Given the description of an element on the screen output the (x, y) to click on. 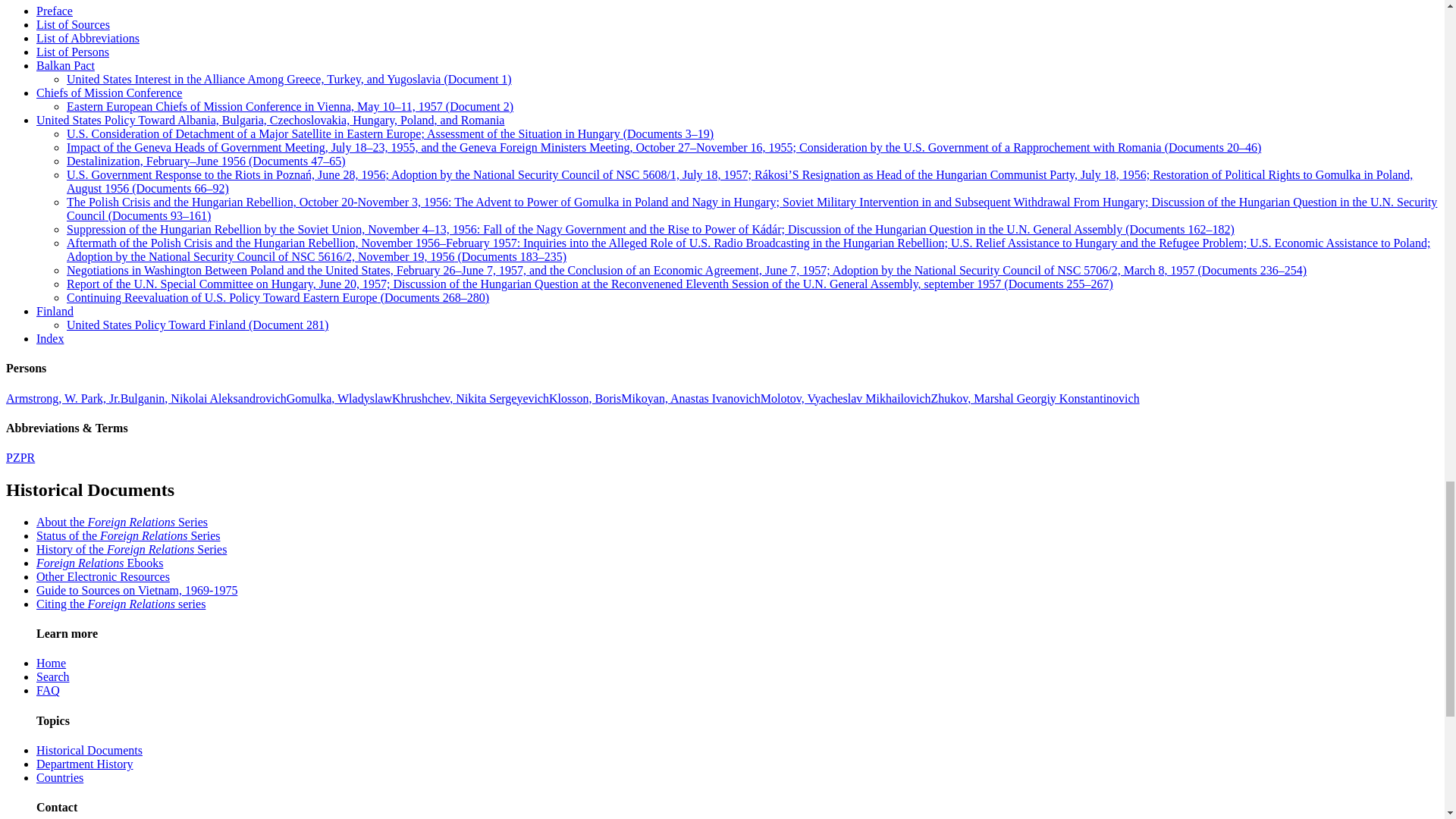
Soviet Foreign Minister until May 1956 (845, 398)
Soviet Minister of Defense, February 1955-October 1957 (1035, 398)
